Given the description of an element on the screen output the (x, y) to click on. 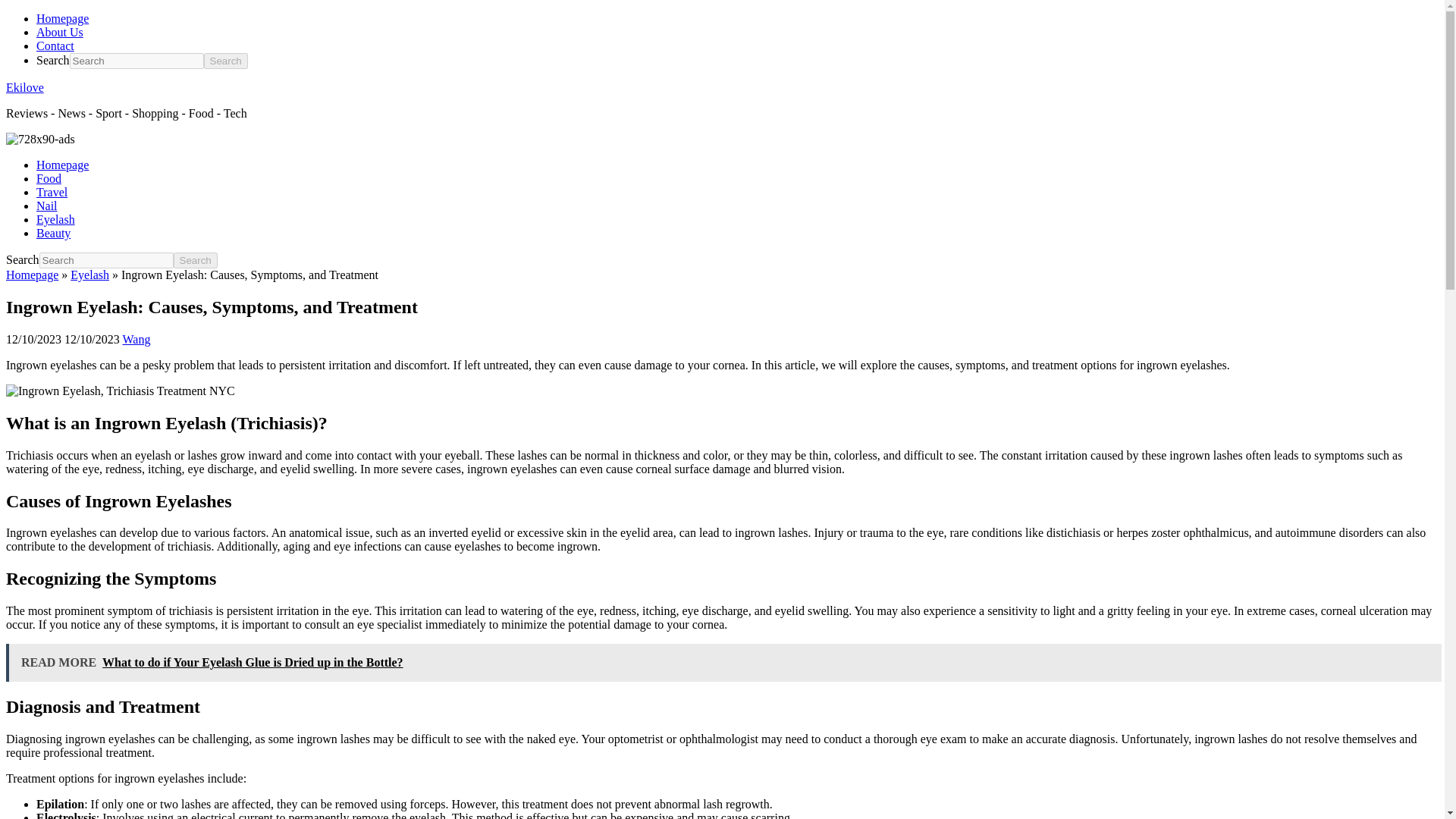
About Us (59, 31)
Search (225, 60)
Travel (51, 192)
Homepage (62, 18)
Beauty (52, 232)
Eyelash (89, 274)
Ekilove (24, 87)
Contact (55, 45)
Food (48, 178)
Search (194, 260)
Homepage (31, 274)
Eyelash (55, 219)
Search (194, 260)
Wang (136, 338)
Search (225, 60)
